Given the description of an element on the screen output the (x, y) to click on. 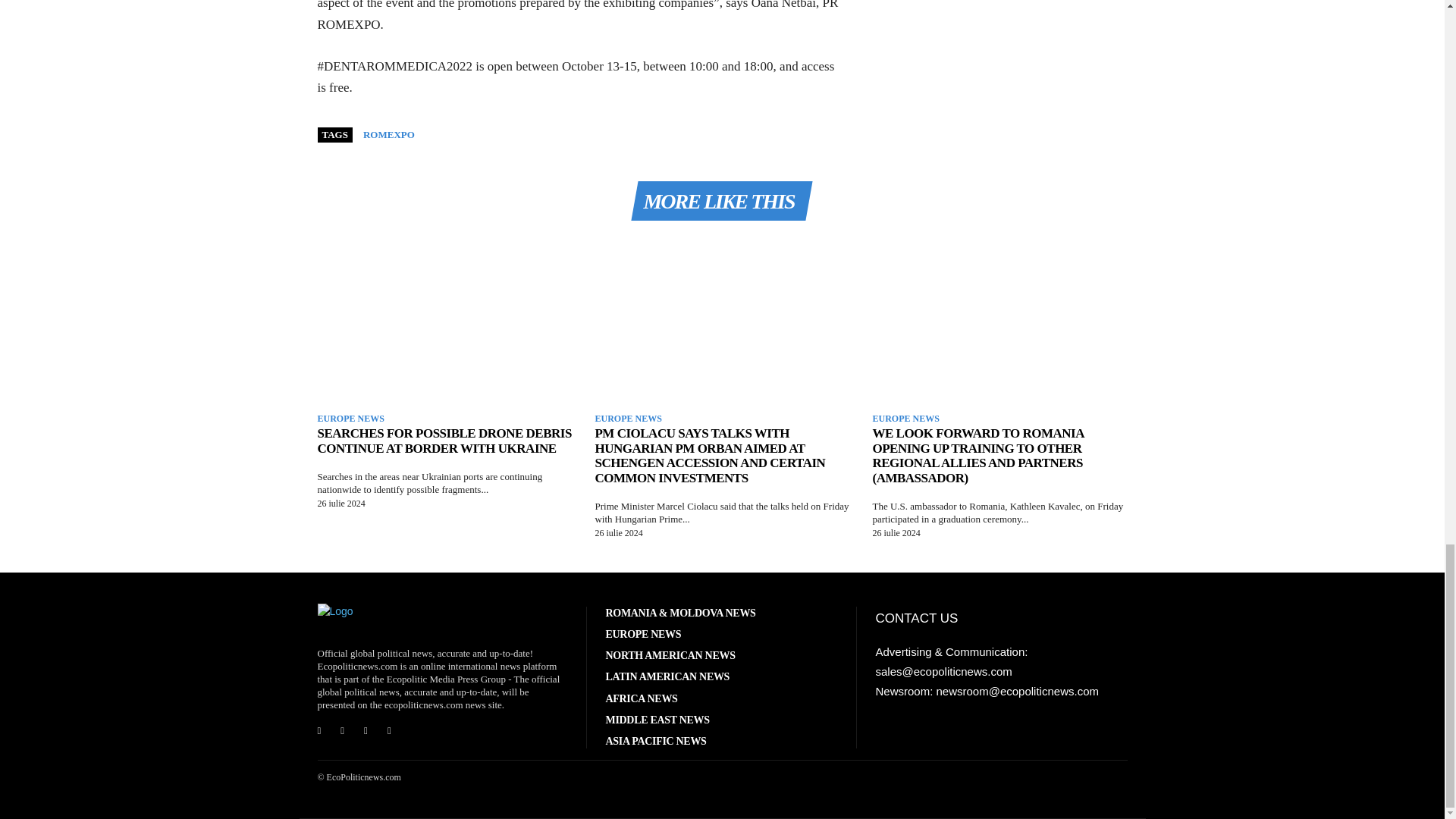
ROMEXPO (388, 134)
